Given the description of an element on the screen output the (x, y) to click on. 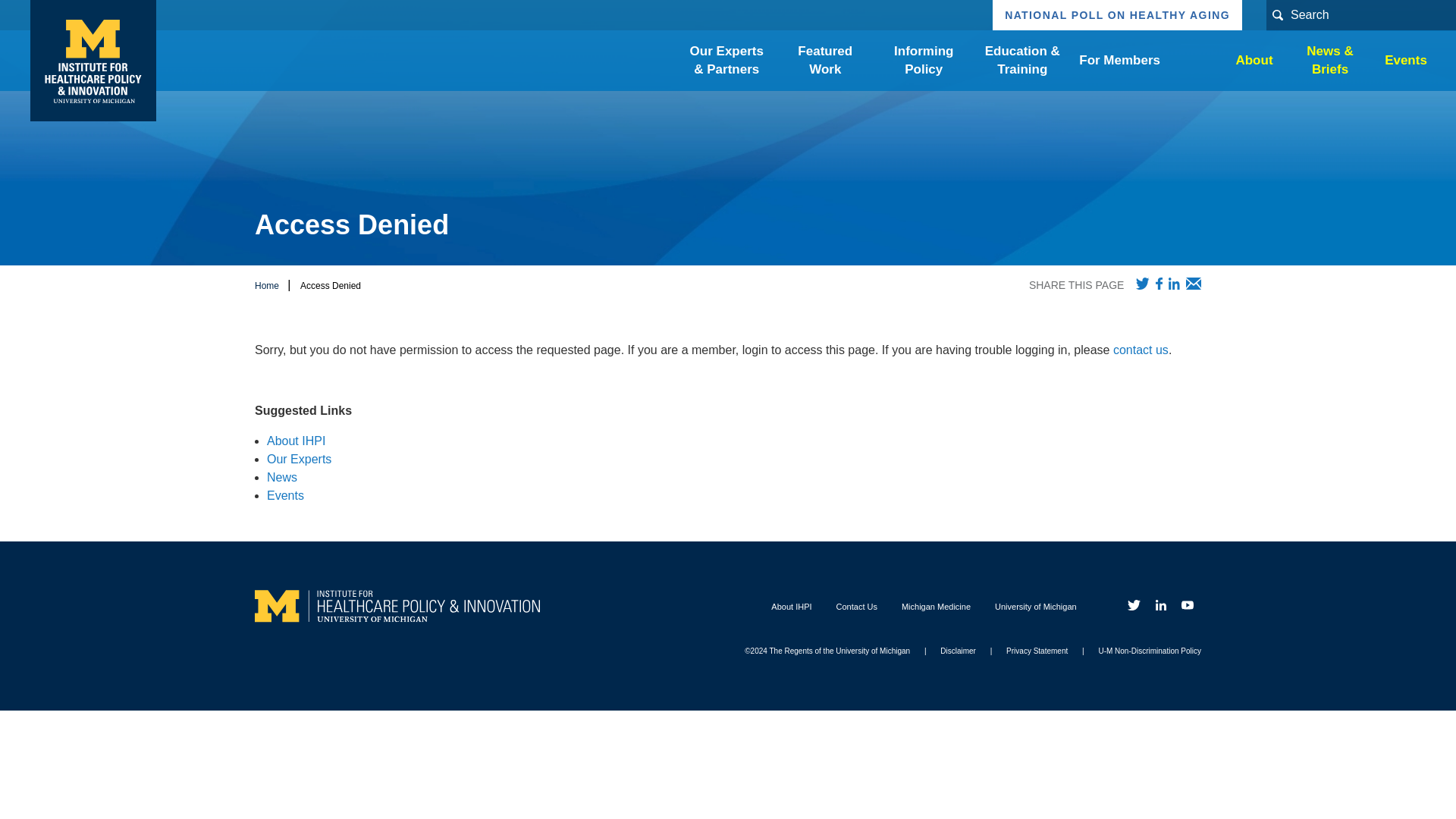
NATIONAL POLL ON HEALTHY AGING (1116, 15)
Home (92, 60)
For Members (1119, 60)
